Given the description of an element on the screen output the (x, y) to click on. 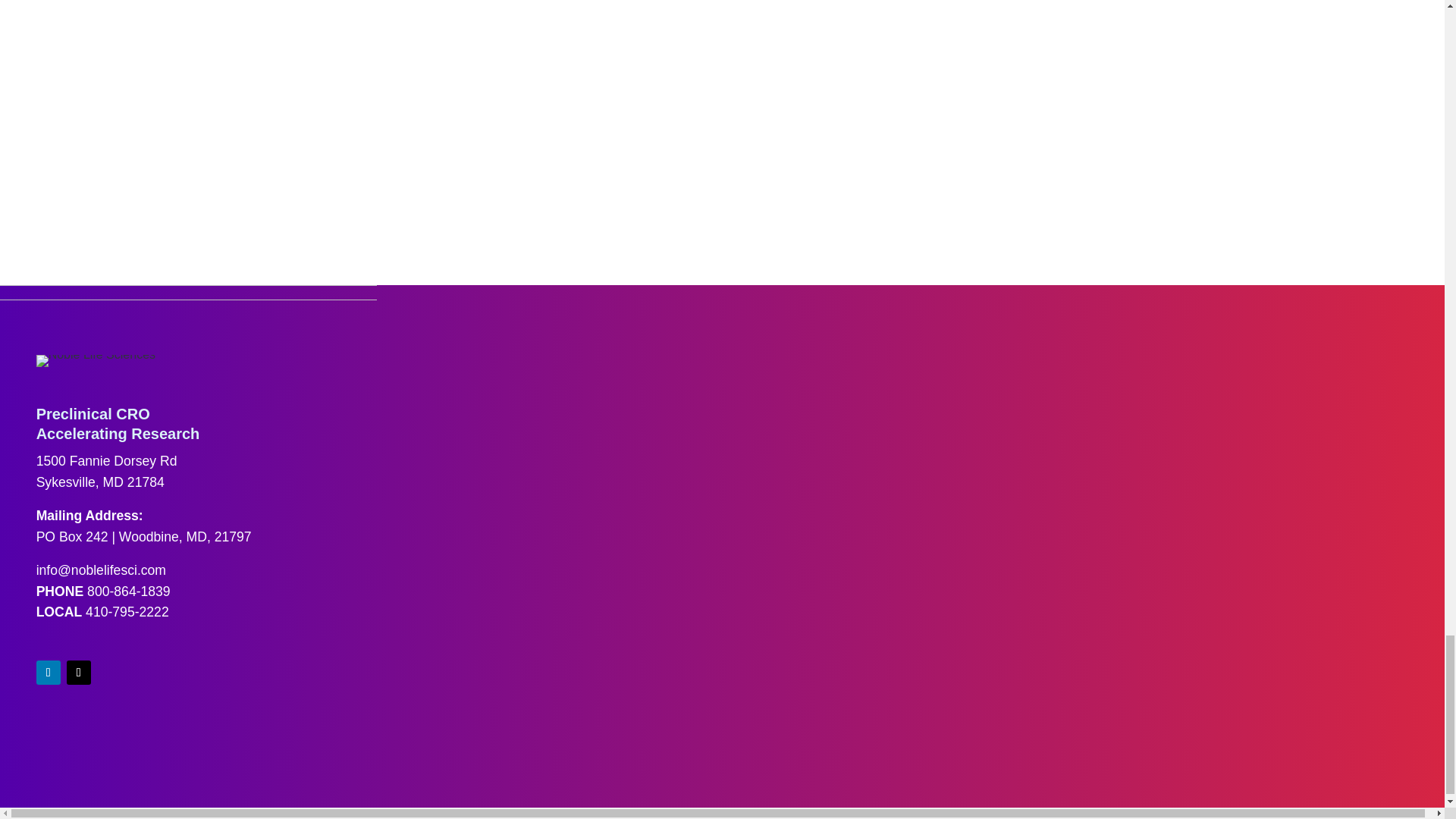
noble-life-sciences-ko (95, 360)
logo-mark-ko (188, 450)
Follow on LinkedIn (48, 672)
Follow on X (78, 672)
